Given the description of an element on the screen output the (x, y) to click on. 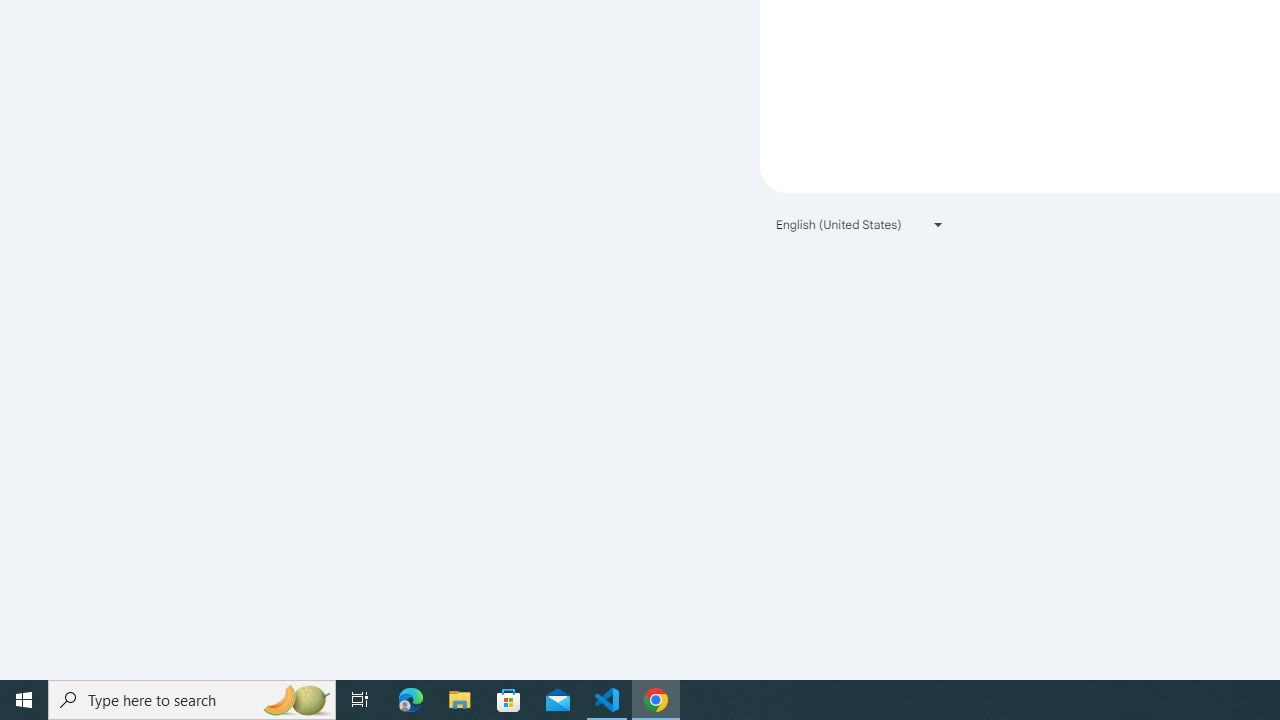
English (United States) (860, 224)
